Given the description of an element on the screen output the (x, y) to click on. 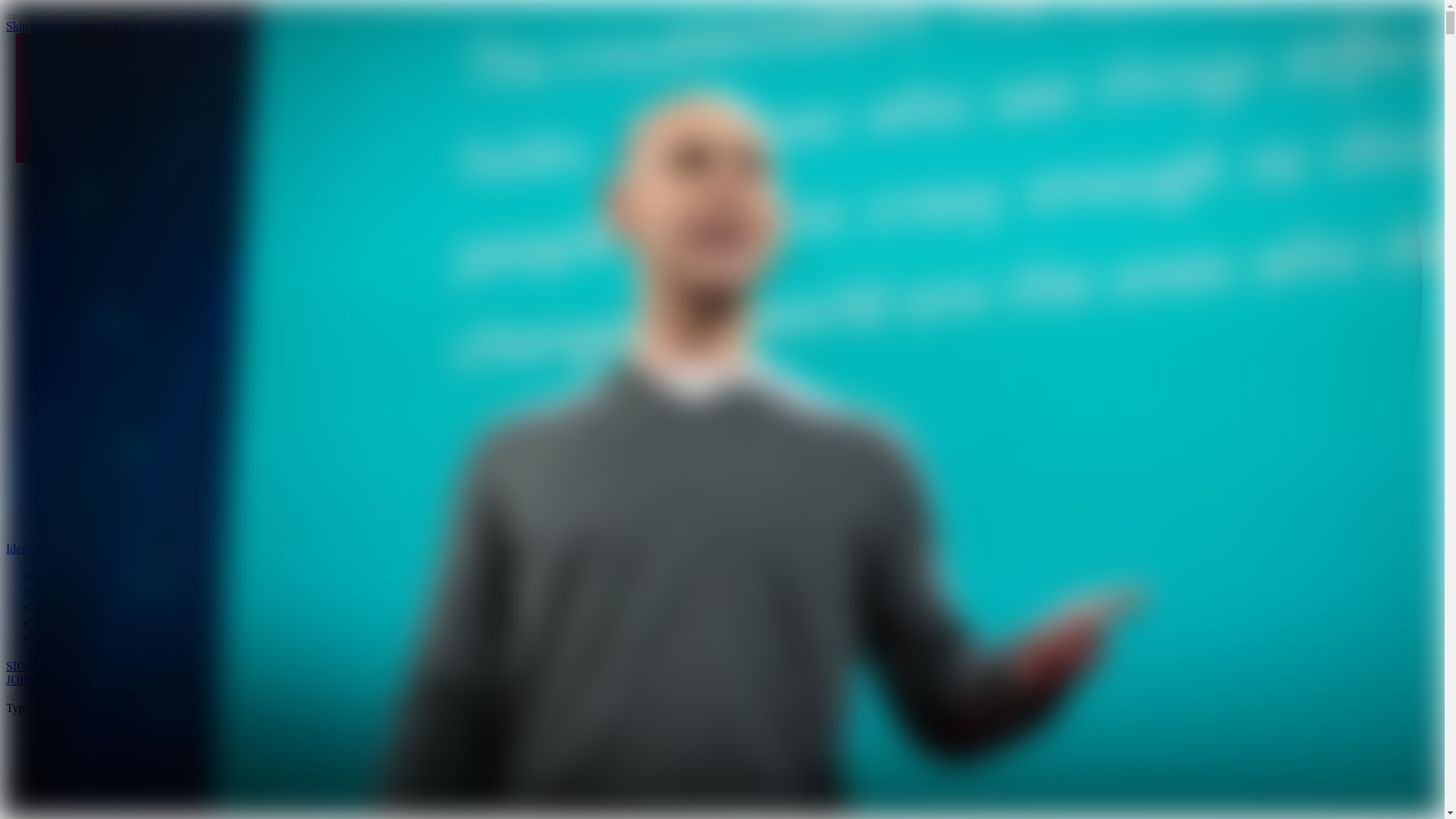
ABOUT (59, 639)
ATTEND (61, 607)
WATCH (60, 575)
PARTICIPATE (74, 623)
DISCOVER (68, 591)
Skip to main content (55, 25)
Skip to search (141, 25)
